Given the description of an element on the screen output the (x, y) to click on. 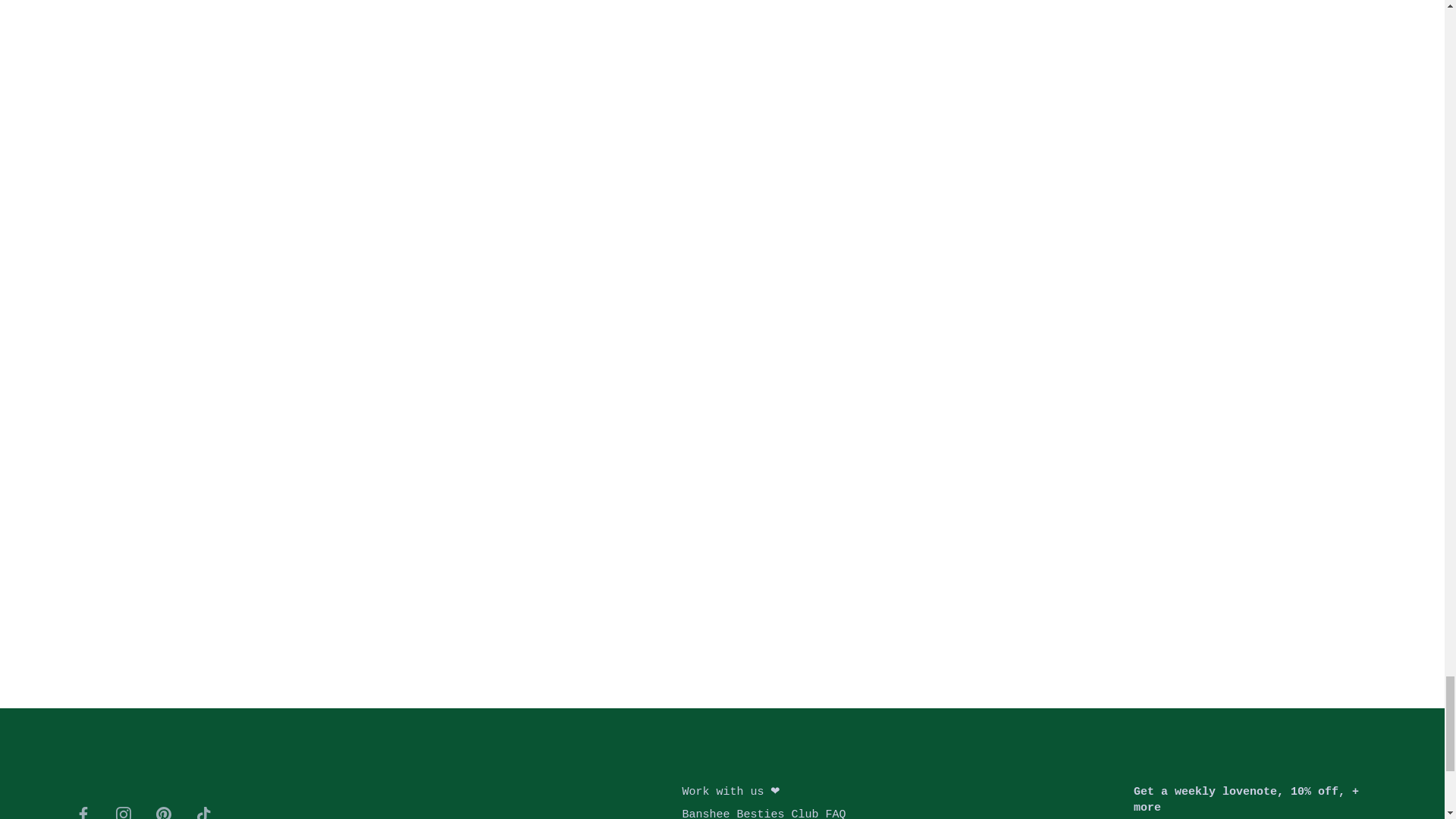
Instagram (123, 812)
Pinterest (163, 812)
